Given the description of an element on the screen output the (x, y) to click on. 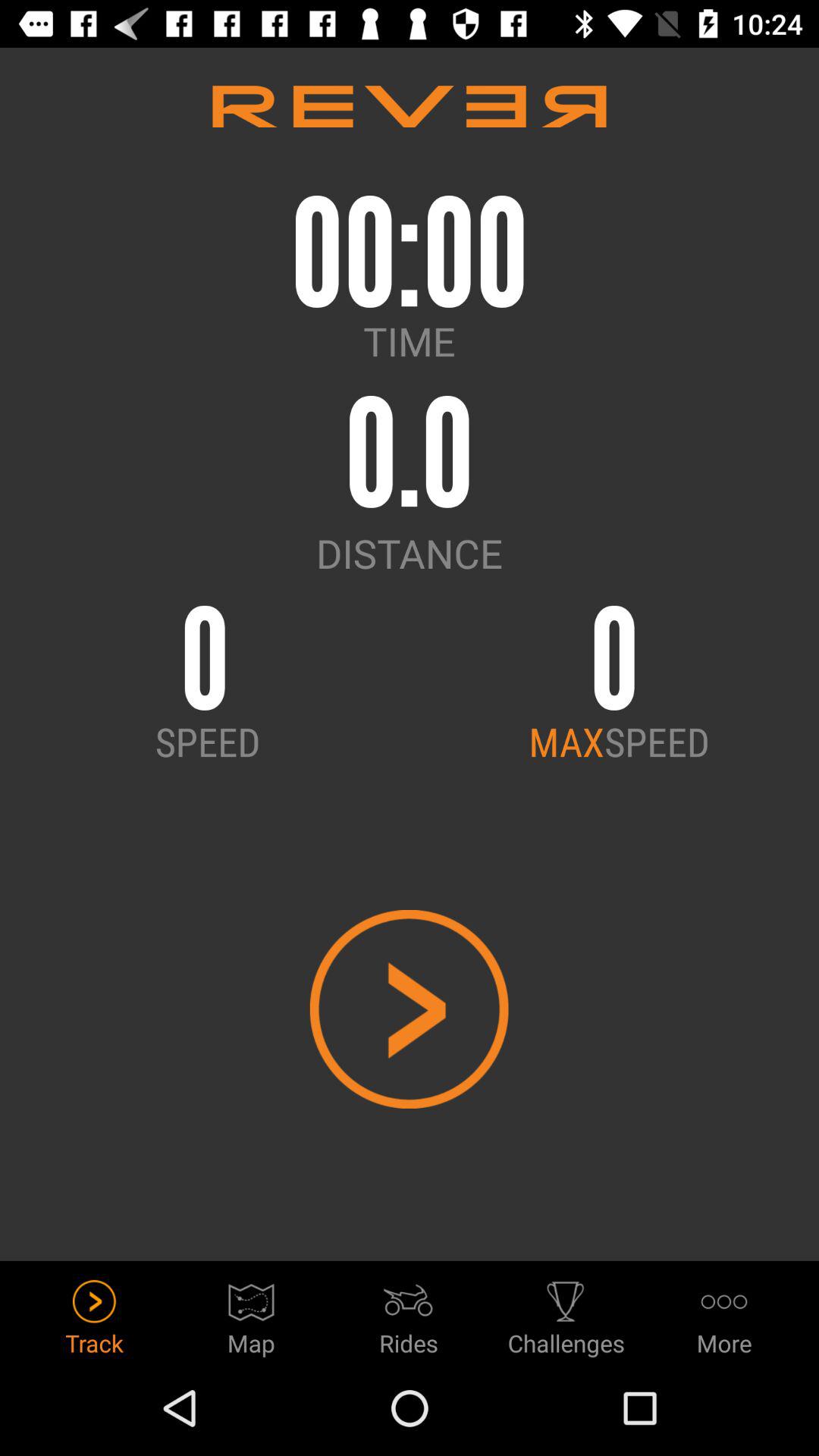
play (408, 1008)
